Given the description of an element on the screen output the (x, y) to click on. 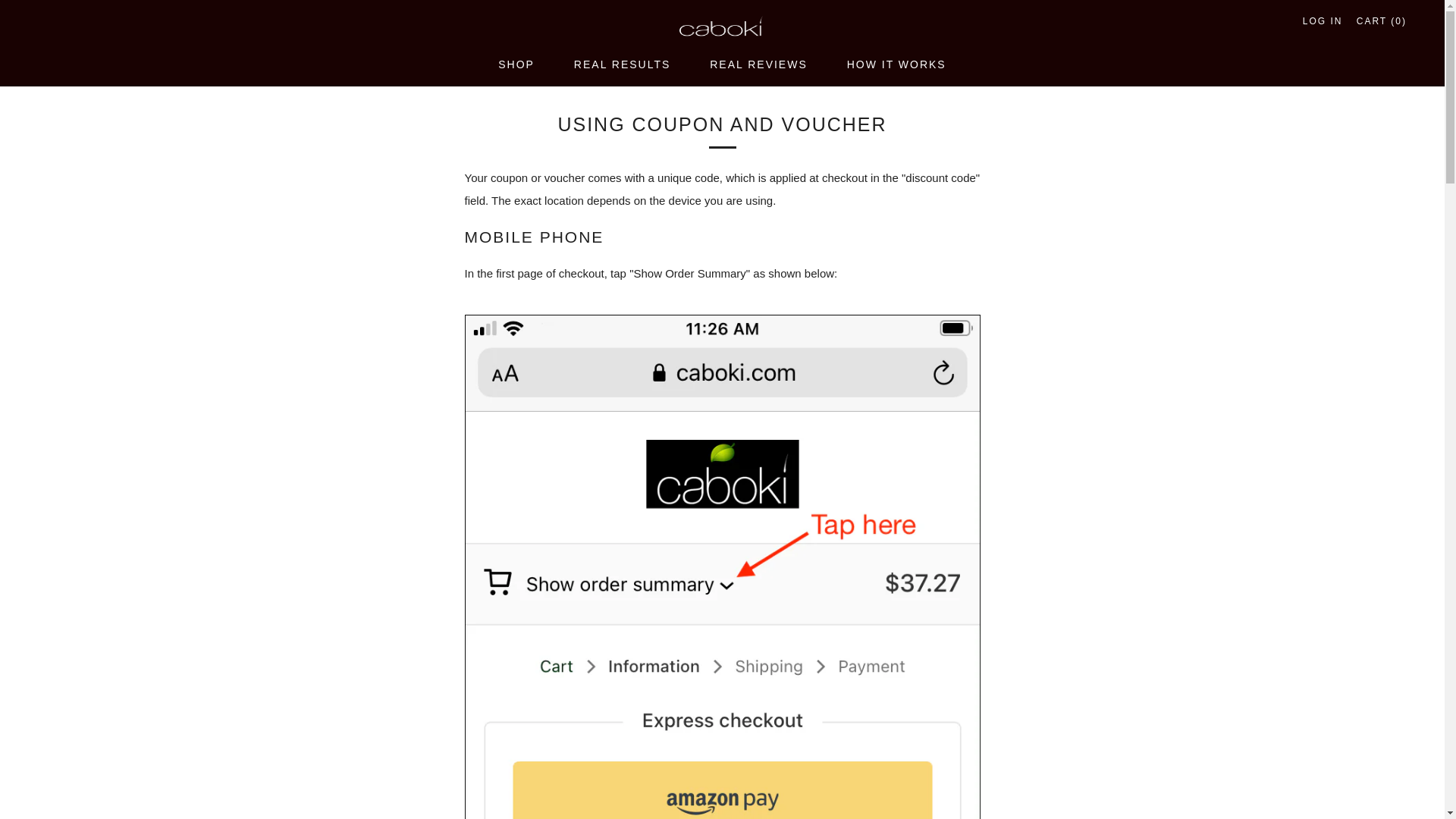
LOG IN (1322, 21)
HOW IT WORKS (896, 64)
REAL RESULTS (621, 64)
REAL REVIEWS (759, 64)
SHOP (515, 64)
